Given the description of an element on the screen output the (x, y) to click on. 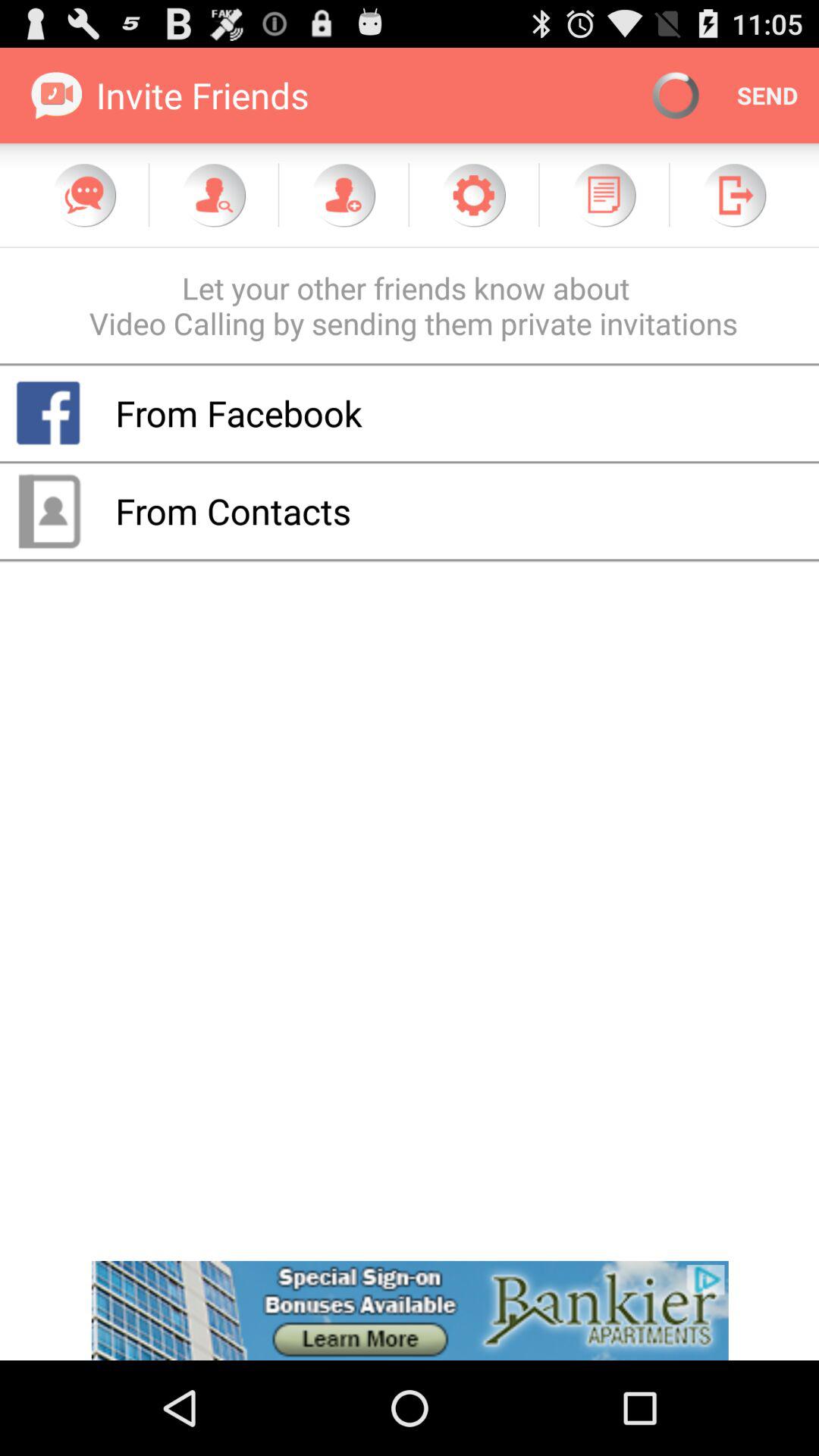
expand setting menu (473, 194)
